Given the description of an element on the screen output the (x, y) to click on. 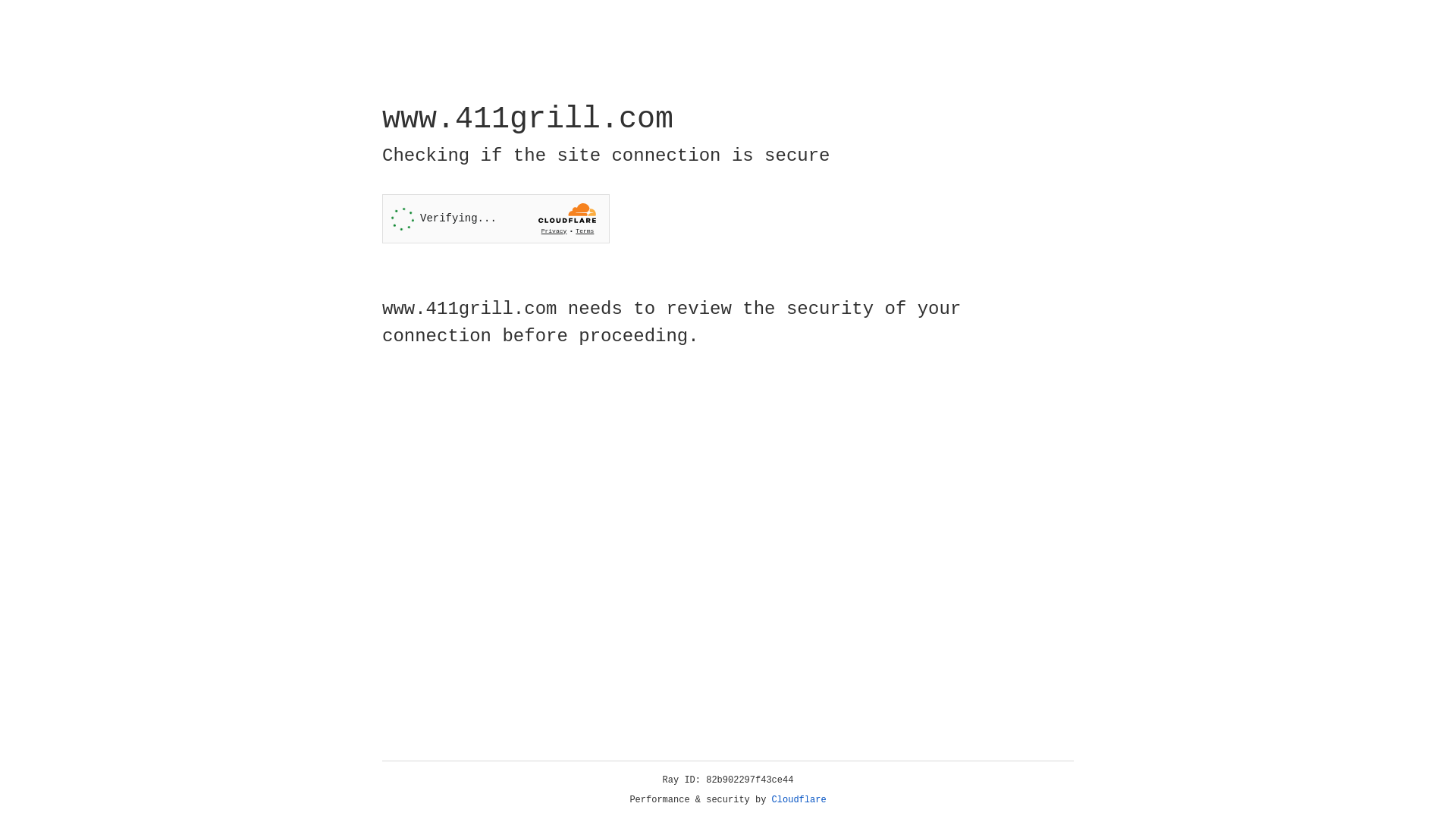
Widget containing a Cloudflare security challenge Element type: hover (495, 218)
Cloudflare Element type: text (798, 799)
